Given the description of an element on the screen output the (x, y) to click on. 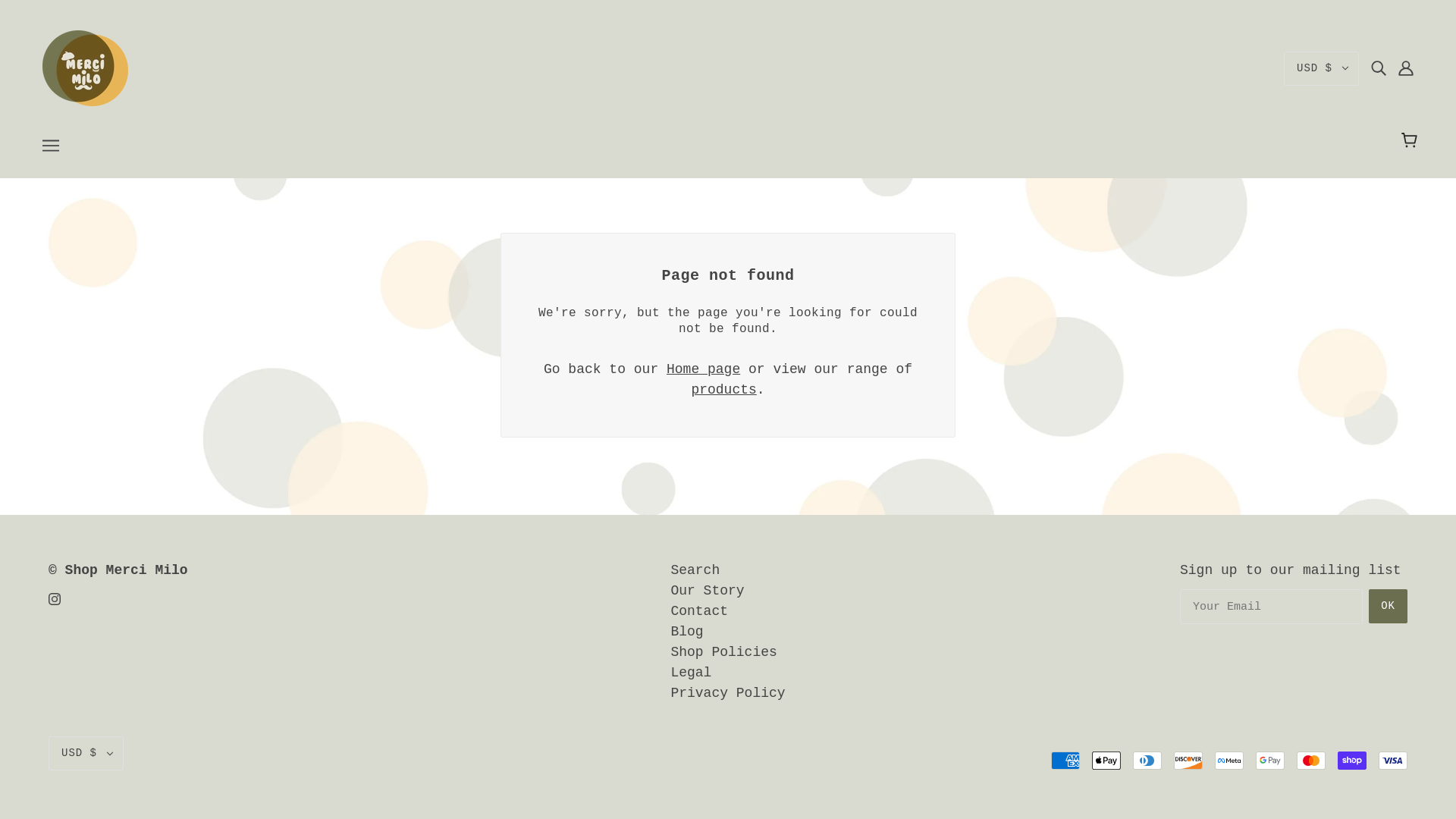
Shop Policies (722, 652)
Legal (690, 671)
Shop Merci Milo (85, 68)
Blog (686, 630)
Contact (698, 611)
Search (694, 570)
Diners Club (1146, 760)
Privacy Policy  (726, 693)
Google Pay (1269, 760)
Shop Pay (1352, 760)
